Given the description of an element on the screen output the (x, y) to click on. 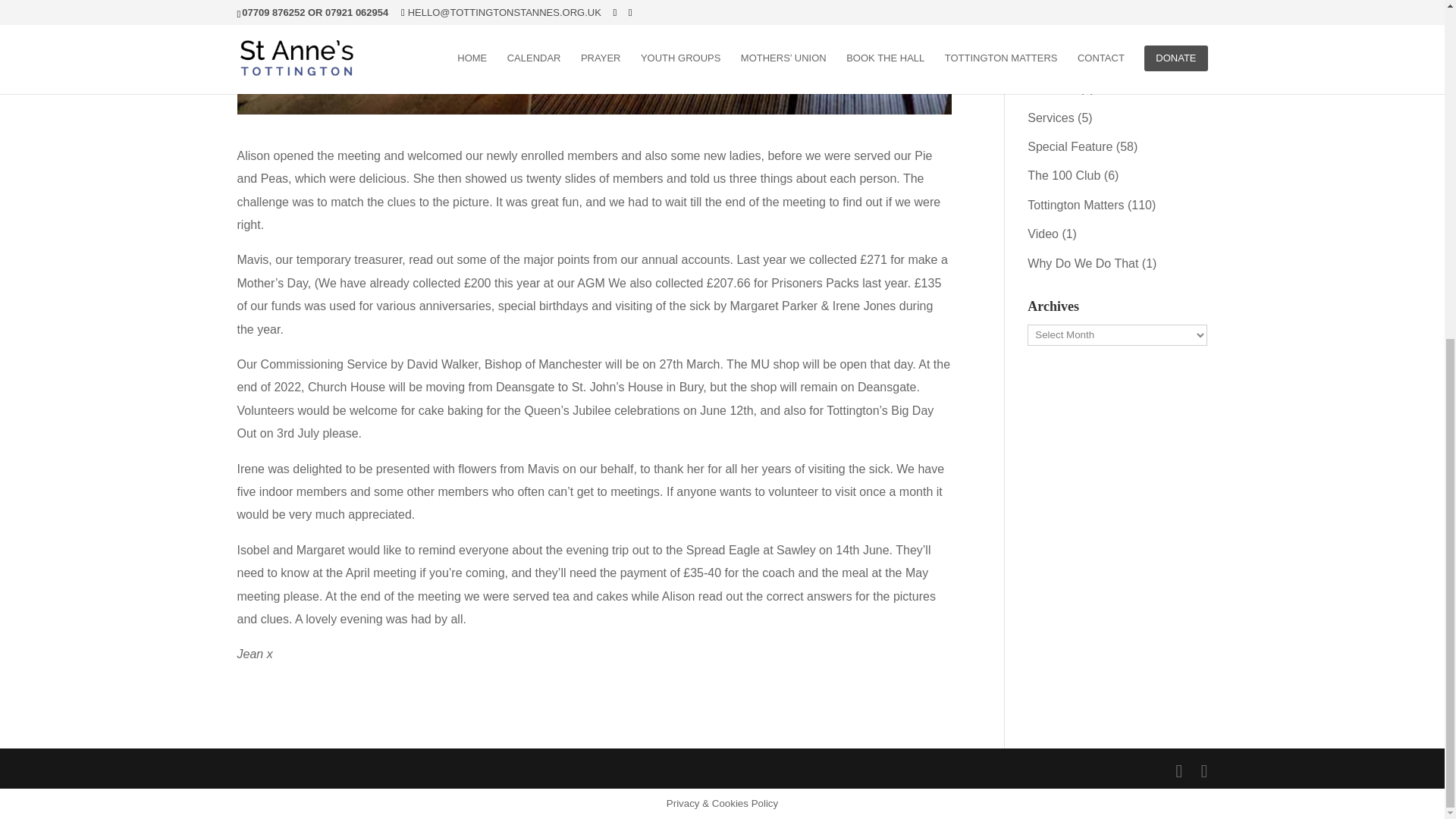
Special Feature (1069, 146)
The 100 Club (1063, 174)
Photo Galleries (1068, 29)
Sermons (1051, 88)
Video (1042, 233)
Notices Archive (1068, 3)
Services (1050, 117)
Why Do We Do That (1082, 263)
Saint Of The Month (1079, 59)
Tottington Matters (1075, 205)
